Given the description of an element on the screen output the (x, y) to click on. 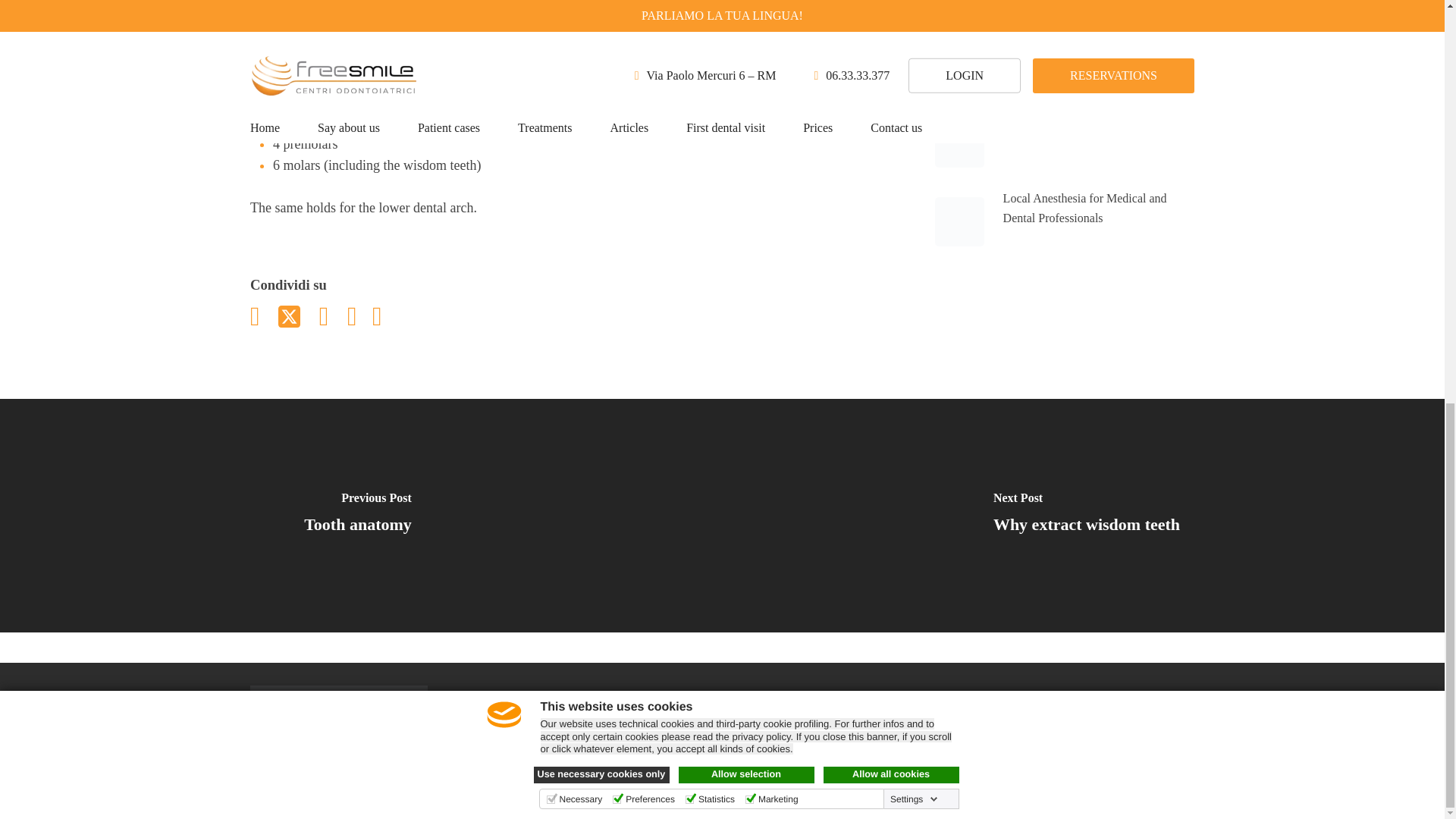
Settings (913, 6)
